Given the description of an element on the screen output the (x, y) to click on. 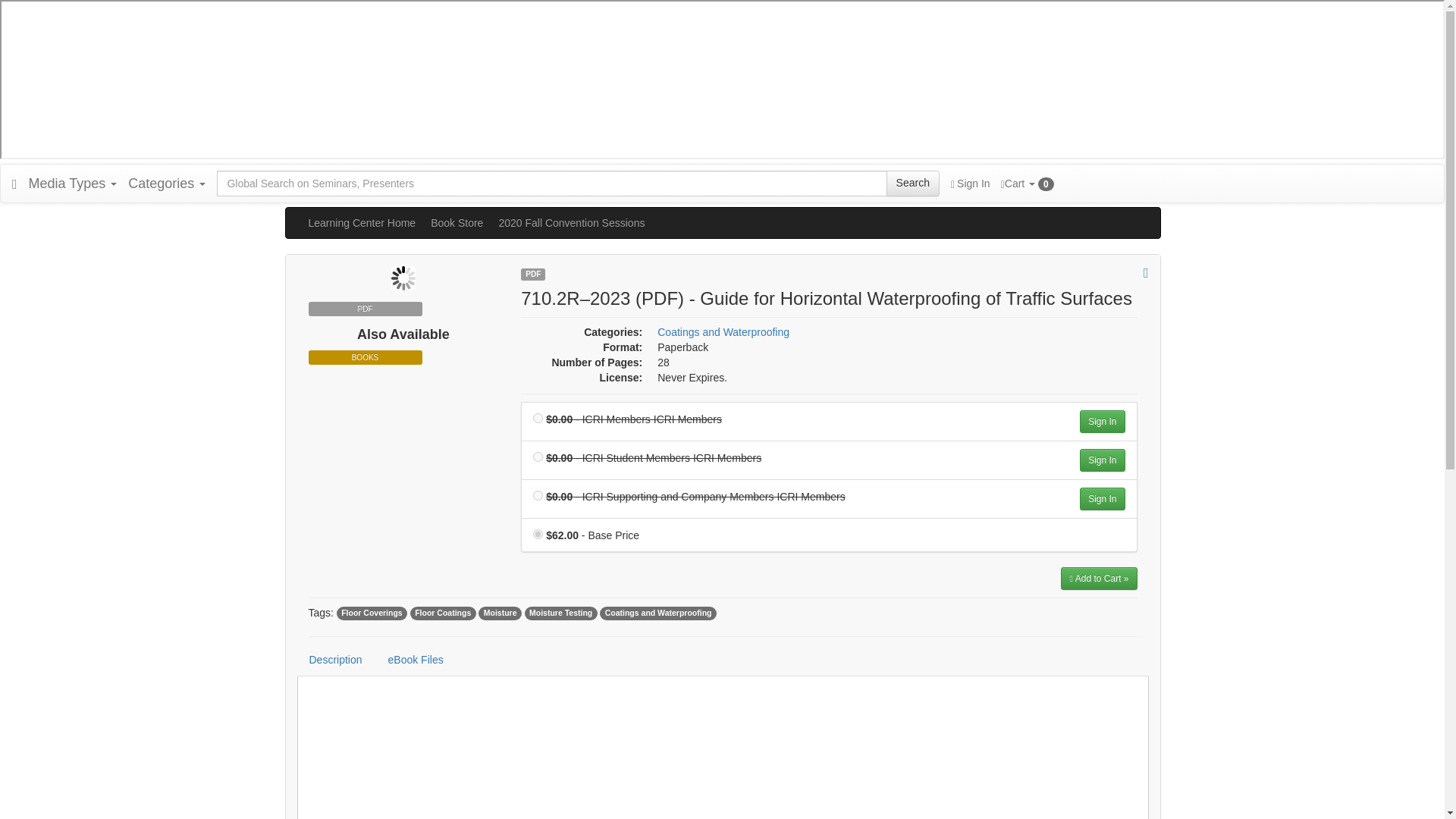
0,62.00 (537, 533)
673964,0 (537, 418)
673964,0 (537, 456)
Sign In (970, 183)
Search (912, 183)
Categories (166, 183)
Media Types (73, 183)
673964,0 (537, 495)
